Given the description of an element on the screen output the (x, y) to click on. 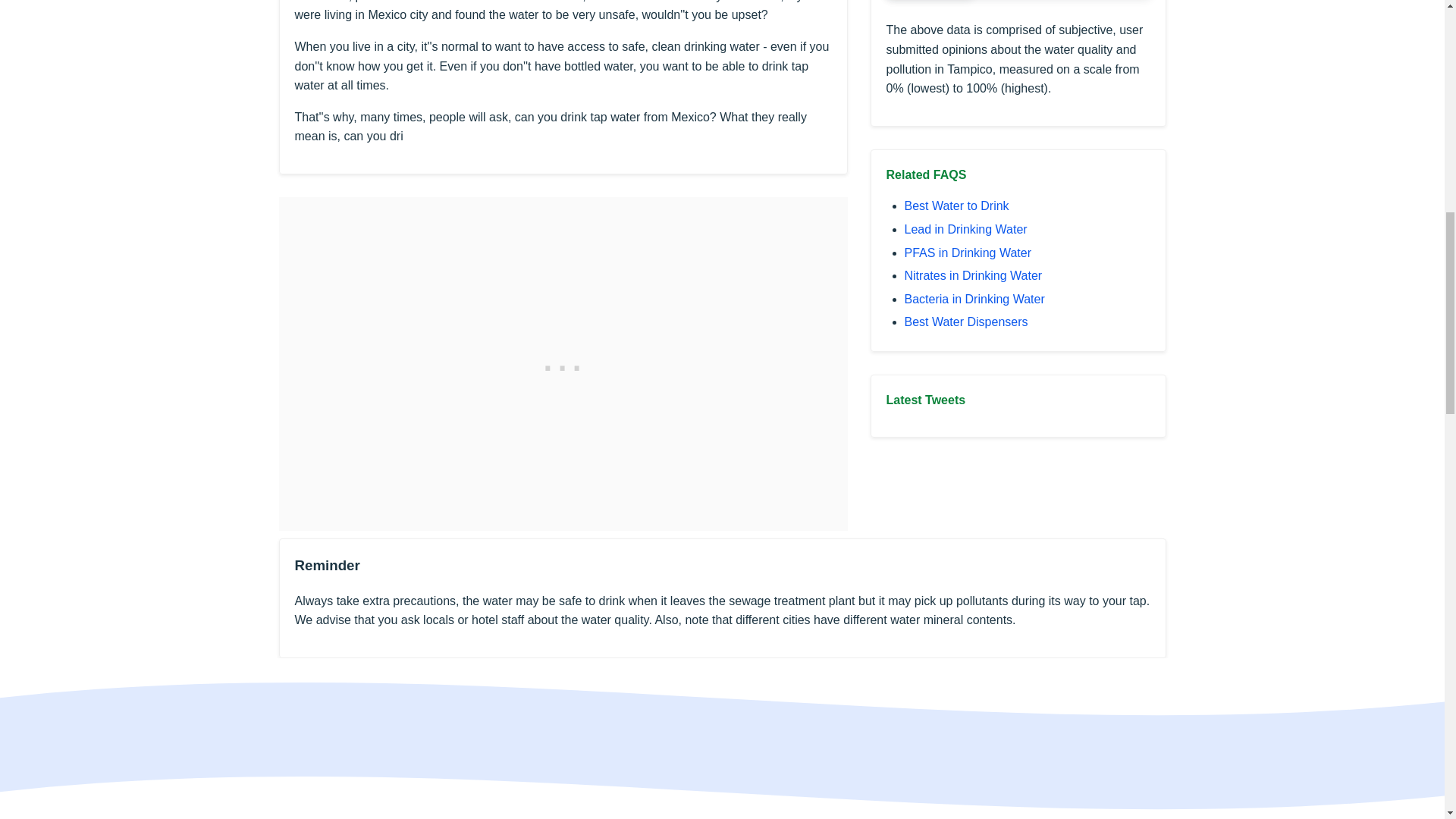
Nitrates in Drinking Water (973, 275)
PFAS in Drinking Water (967, 252)
Lead in Drinking Water (965, 228)
Best Water to Drink (956, 205)
Bacteria in Drinking Water (973, 298)
Best Water Dispensers (965, 321)
